Given the description of an element on the screen output the (x, y) to click on. 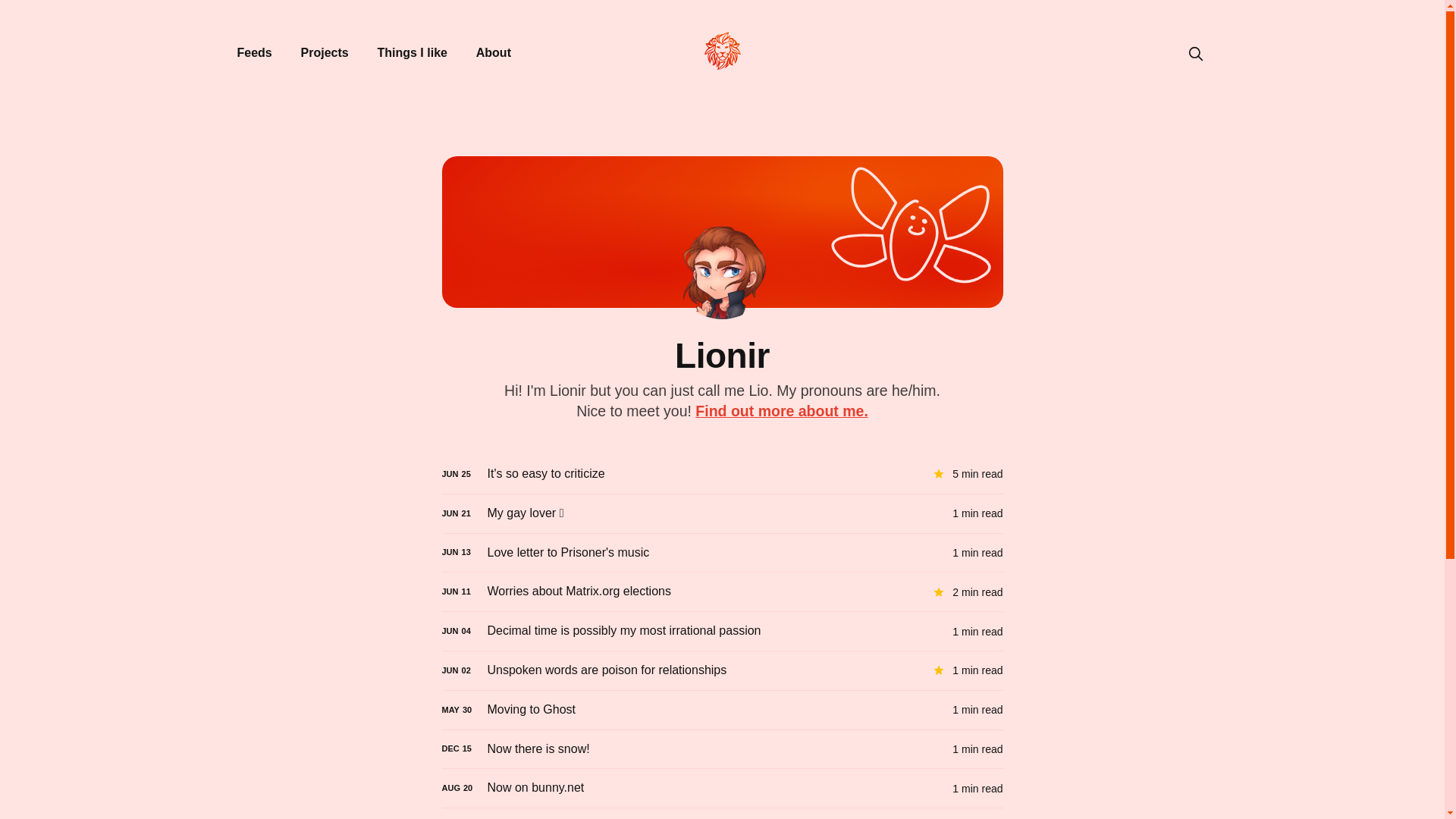
About (493, 53)
Feeds (252, 53)
Projects (325, 53)
Find out more about me. (781, 410)
Things I like (411, 53)
